Given the description of an element on the screen output the (x, y) to click on. 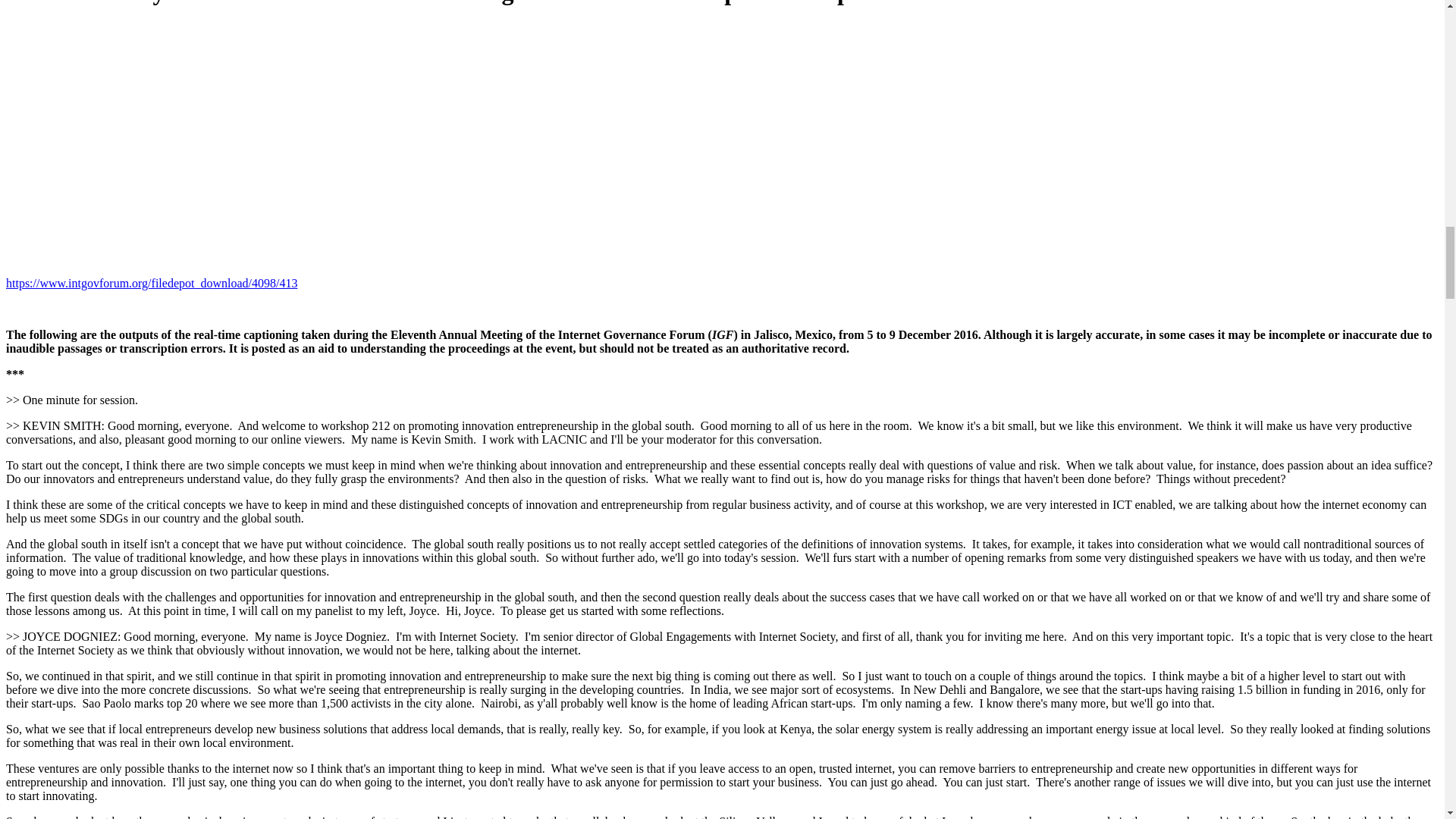
Internet Governance Forum  (722, 334)
